Given the description of an element on the screen output the (x, y) to click on. 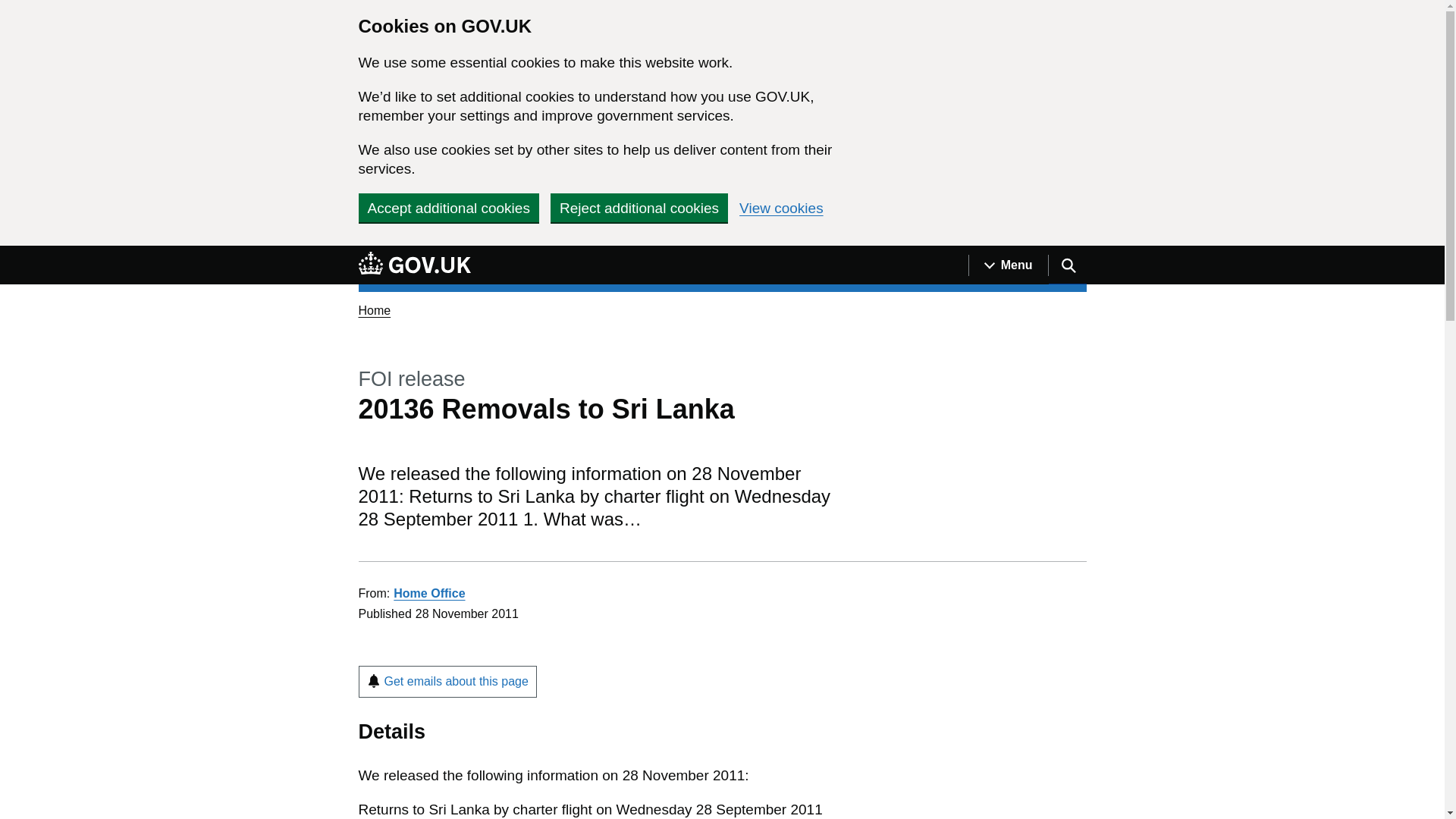
Search GOV.UK (1067, 265)
GOV.UK (414, 262)
Home Office (428, 593)
Home (374, 309)
GOV.UK (414, 264)
Skip to main content (11, 254)
Accept additional cookies (448, 207)
Menu (1008, 265)
Reject additional cookies (639, 207)
Get emails about this page (446, 681)
